Given the description of an element on the screen output the (x, y) to click on. 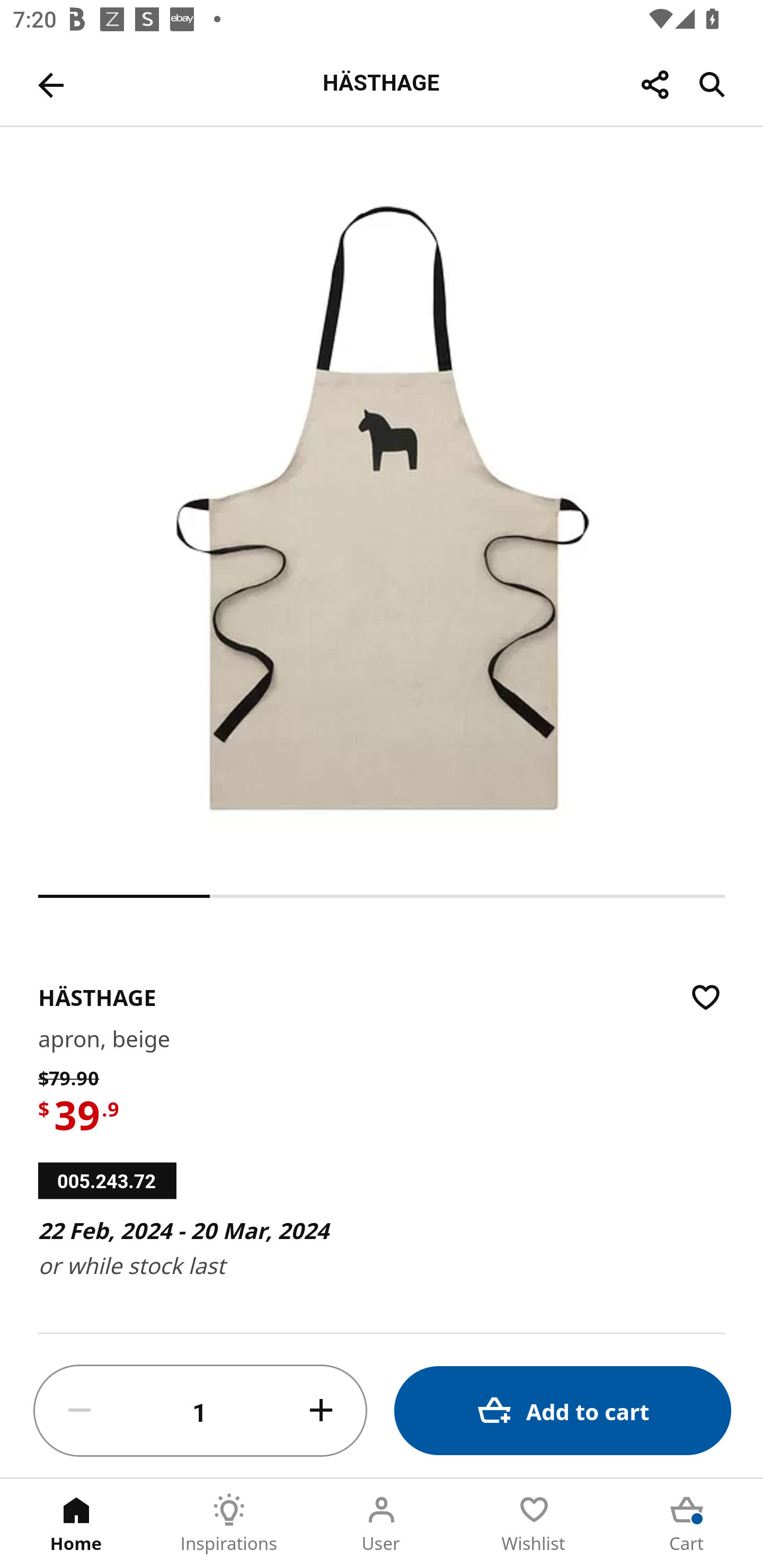
Add to cart (562, 1410)
1 (200, 1411)
Home
Tab 1 of 5 (76, 1522)
Inspirations
Tab 2 of 5 (228, 1522)
User
Tab 3 of 5 (381, 1522)
Wishlist
Tab 4 of 5 (533, 1522)
Cart
Tab 5 of 5 (686, 1522)
